Given the description of an element on the screen output the (x, y) to click on. 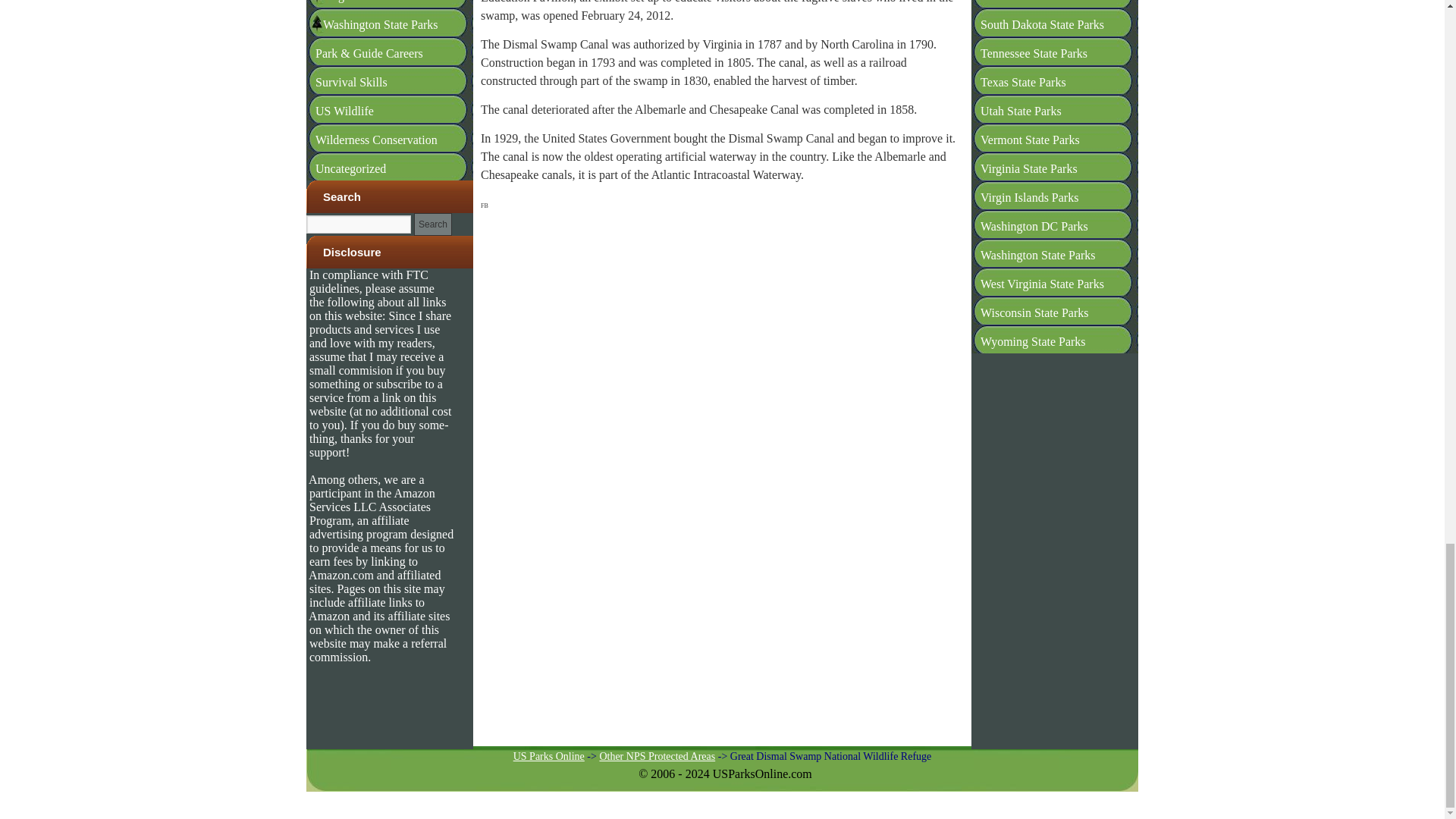
Search (432, 223)
